Given the description of an element on the screen output the (x, y) to click on. 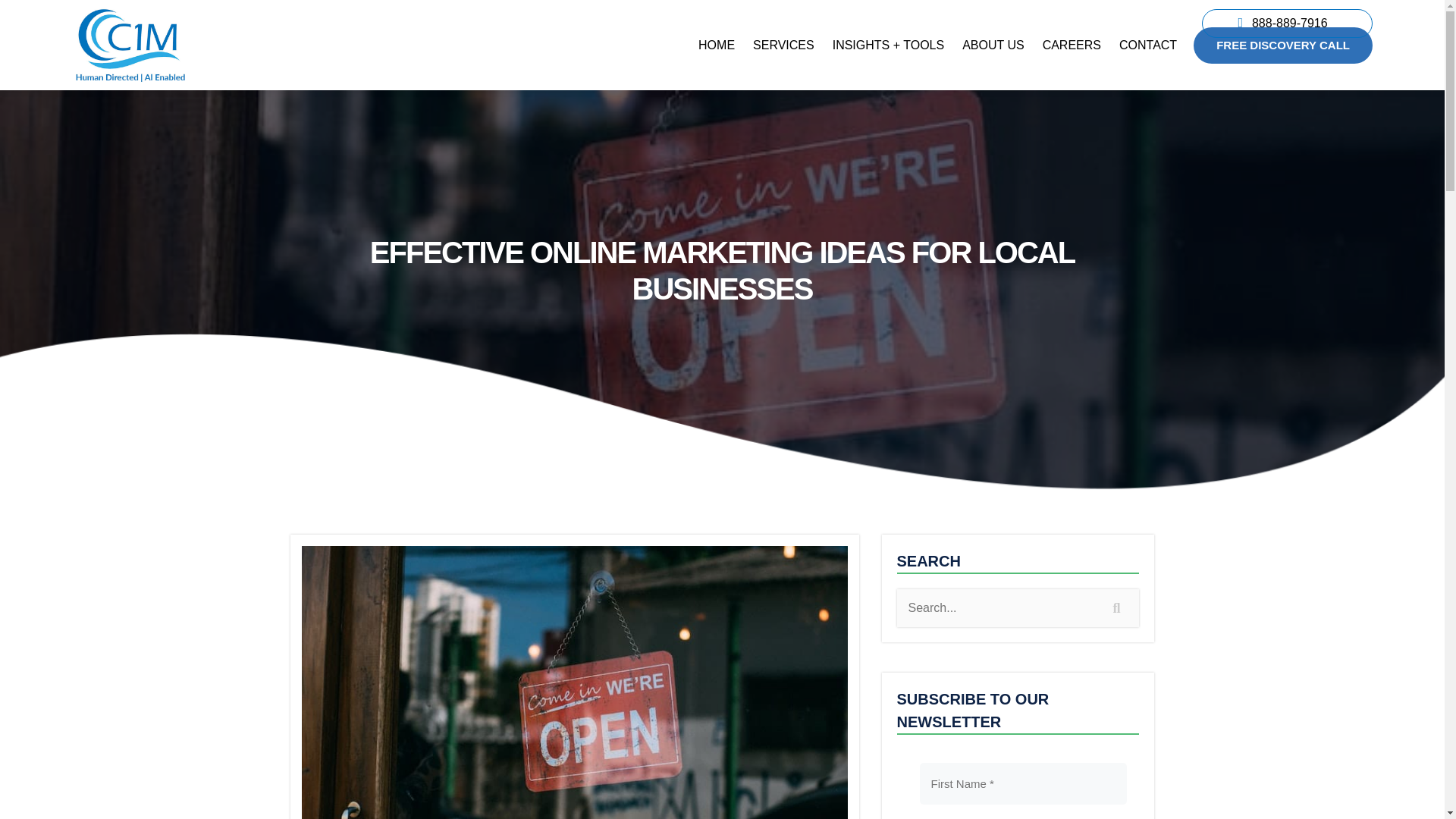
CAREERS (1071, 44)
HOME (716, 44)
HOME (716, 44)
CONTACT (1147, 44)
ABOUT US (993, 44)
Services (784, 44)
SERVICES (784, 44)
FREE DISCOVERY CALL (1283, 45)
888-889-7916 (1289, 22)
